Given the description of an element on the screen output the (x, y) to click on. 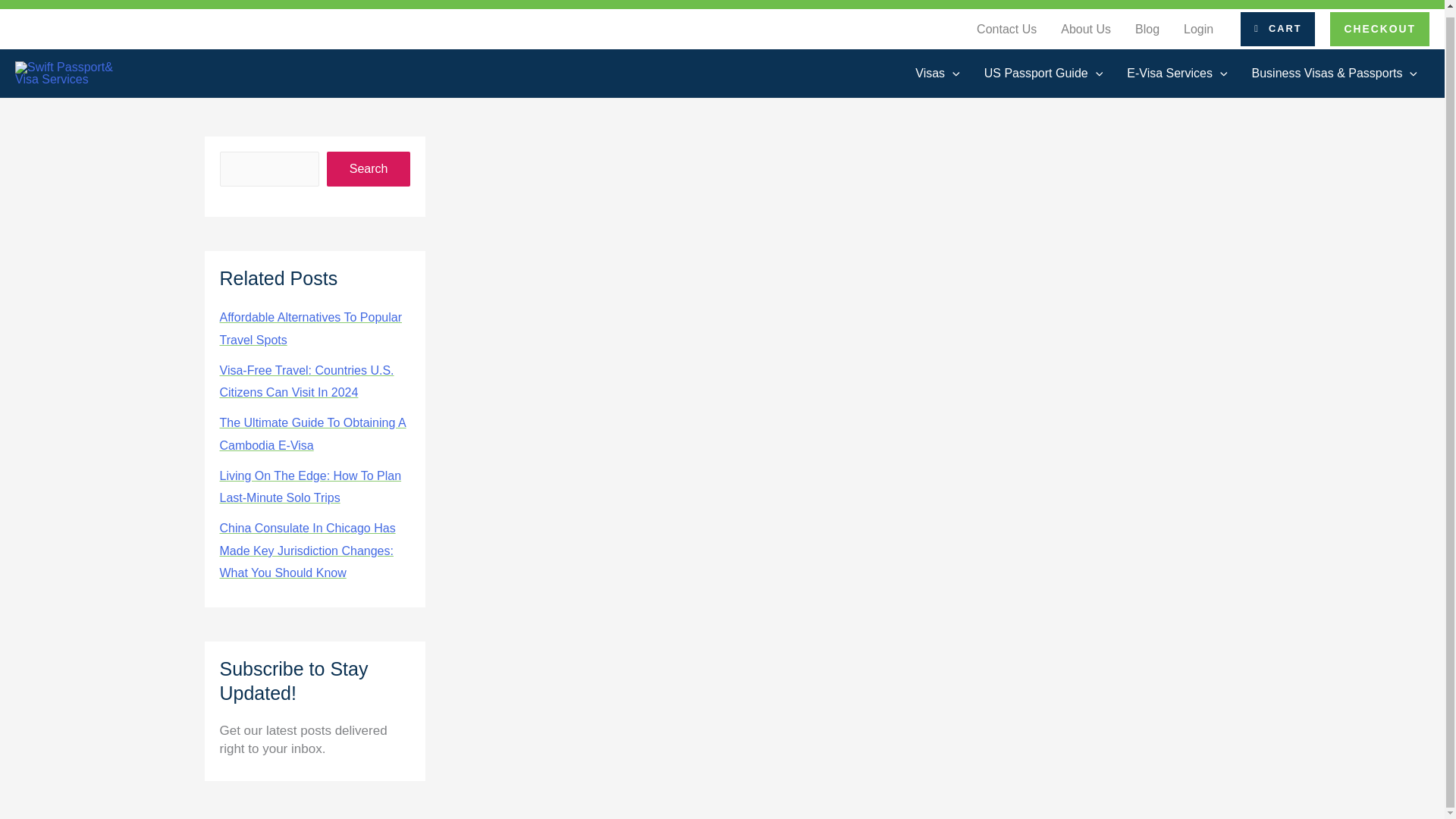
Login (1198, 29)
Blog (1147, 29)
US Passport Guide (1043, 73)
CART (1277, 28)
Contact Us (1005, 29)
CHECKOUT (1379, 29)
Visas (936, 73)
E-Visa Services (1177, 73)
About Us (1085, 29)
